Given the description of an element on the screen output the (x, y) to click on. 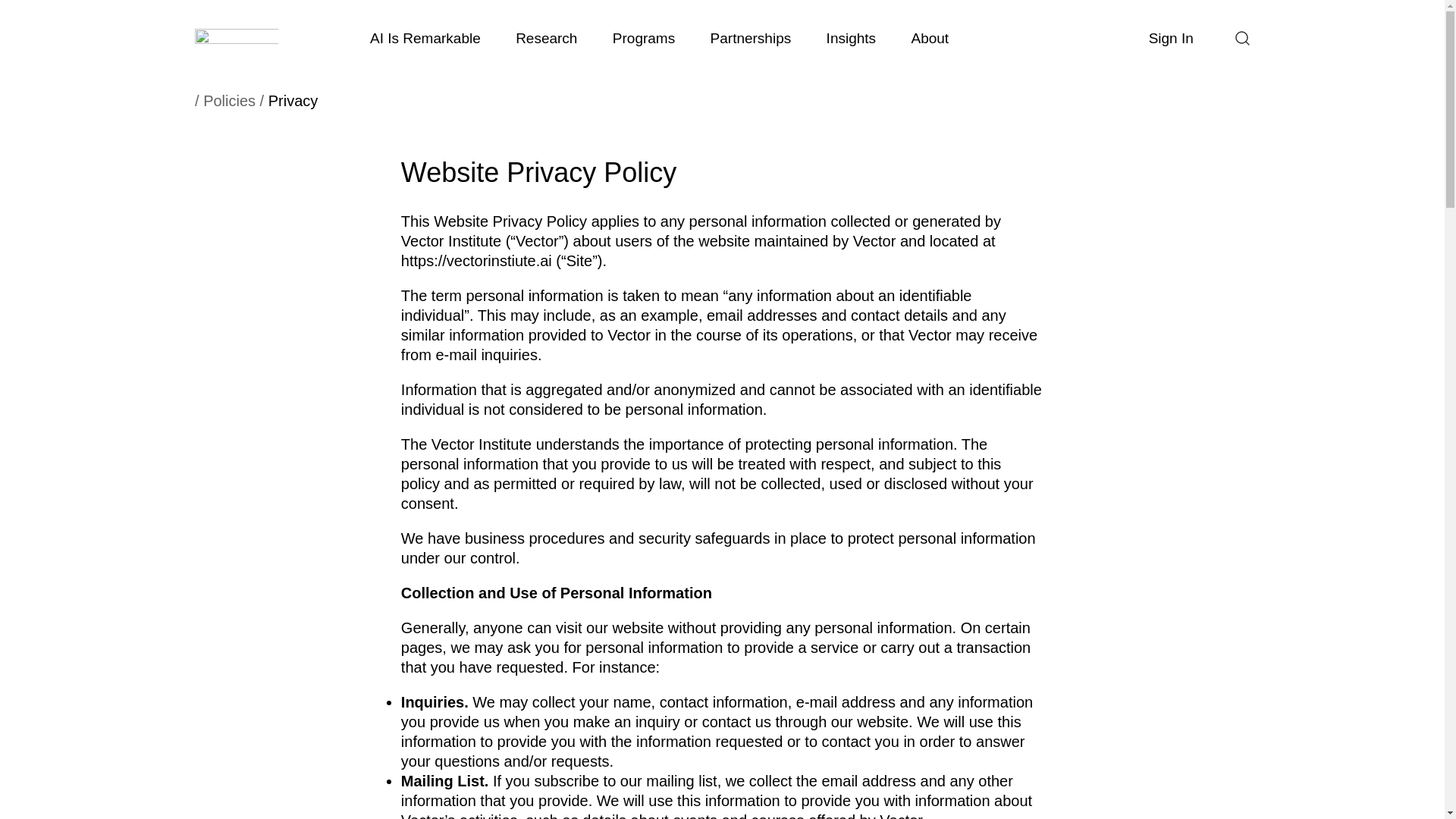
Programs (644, 37)
AI Is Remarkable (425, 37)
Insights (849, 37)
About (929, 37)
Partnerships (750, 37)
Research (546, 37)
